Given the description of an element on the screen output the (x, y) to click on. 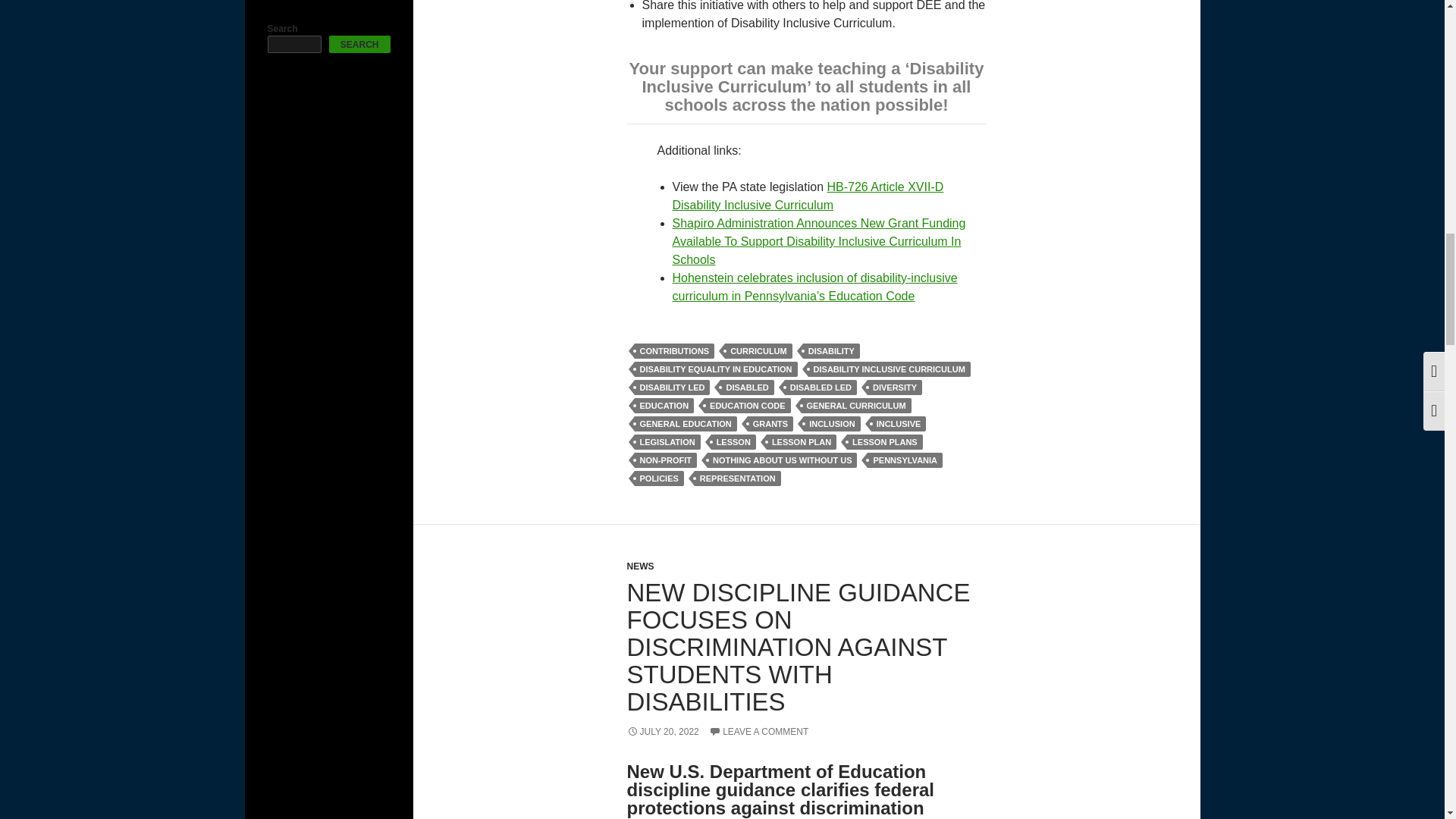
EDUCATION (663, 405)
CONTRIBUTIONS (673, 350)
DISABILITY LED (671, 387)
DISABLED LED (820, 387)
CURRICULUM (758, 350)
DISABLED (746, 387)
DISABILITY (831, 350)
DISABILITY INCLUSIVE CURRICULUM (889, 368)
HB-726 Article XVII-D Disability Inclusive Curriculum (807, 195)
DISABILITY EQUALITY IN EDUCATION (714, 368)
DIVERSITY (894, 387)
